Given the description of an element on the screen output the (x, y) to click on. 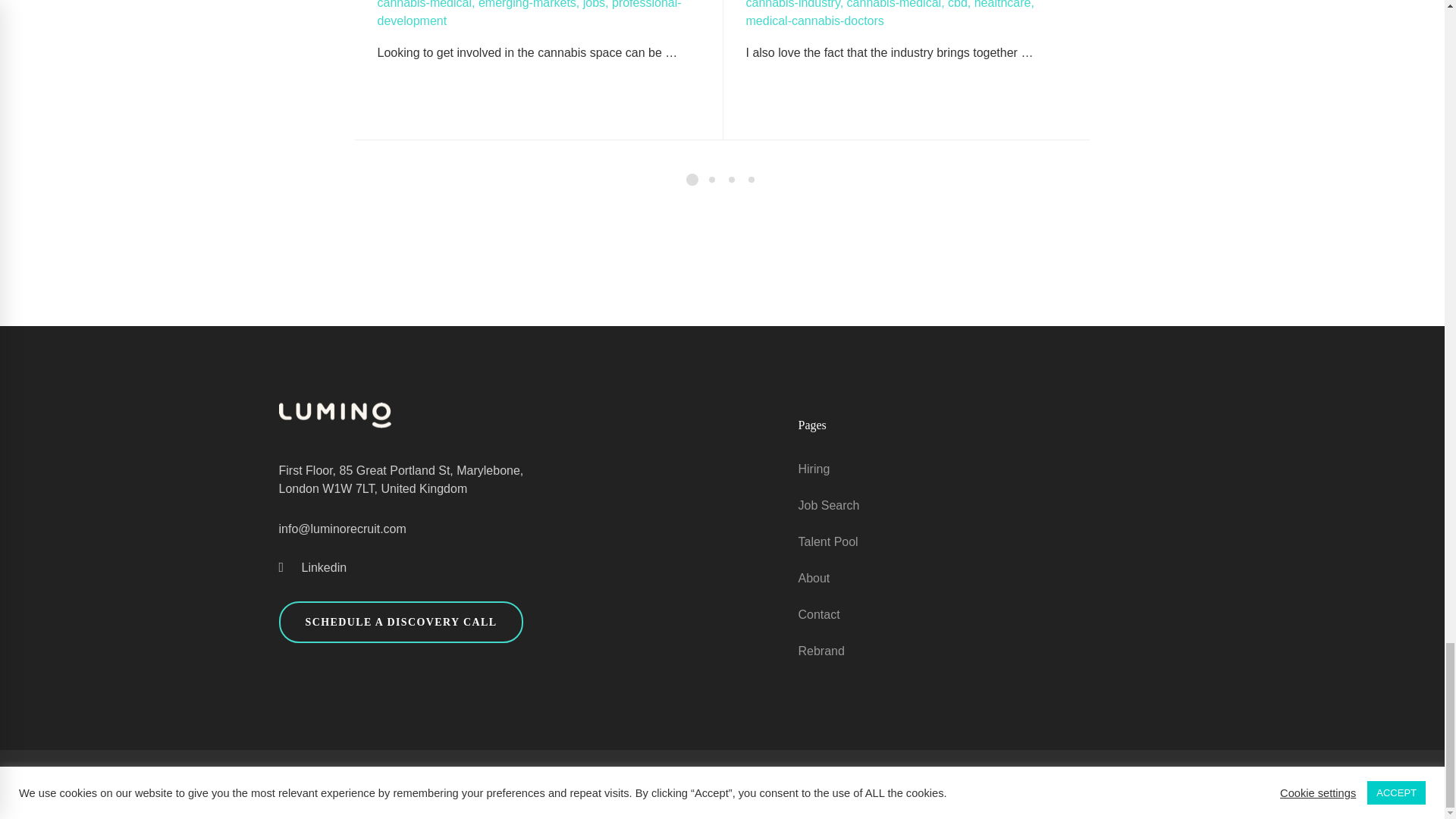
cannabis-industry (792, 4)
cannabis-medical (894, 4)
cbd (957, 4)
emerging-markets (527, 4)
cannabis-medical (424, 4)
medical-cannabis-doctors (814, 20)
jobs (594, 4)
professional-development (529, 13)
healthcare (1002, 4)
